Given the description of an element on the screen output the (x, y) to click on. 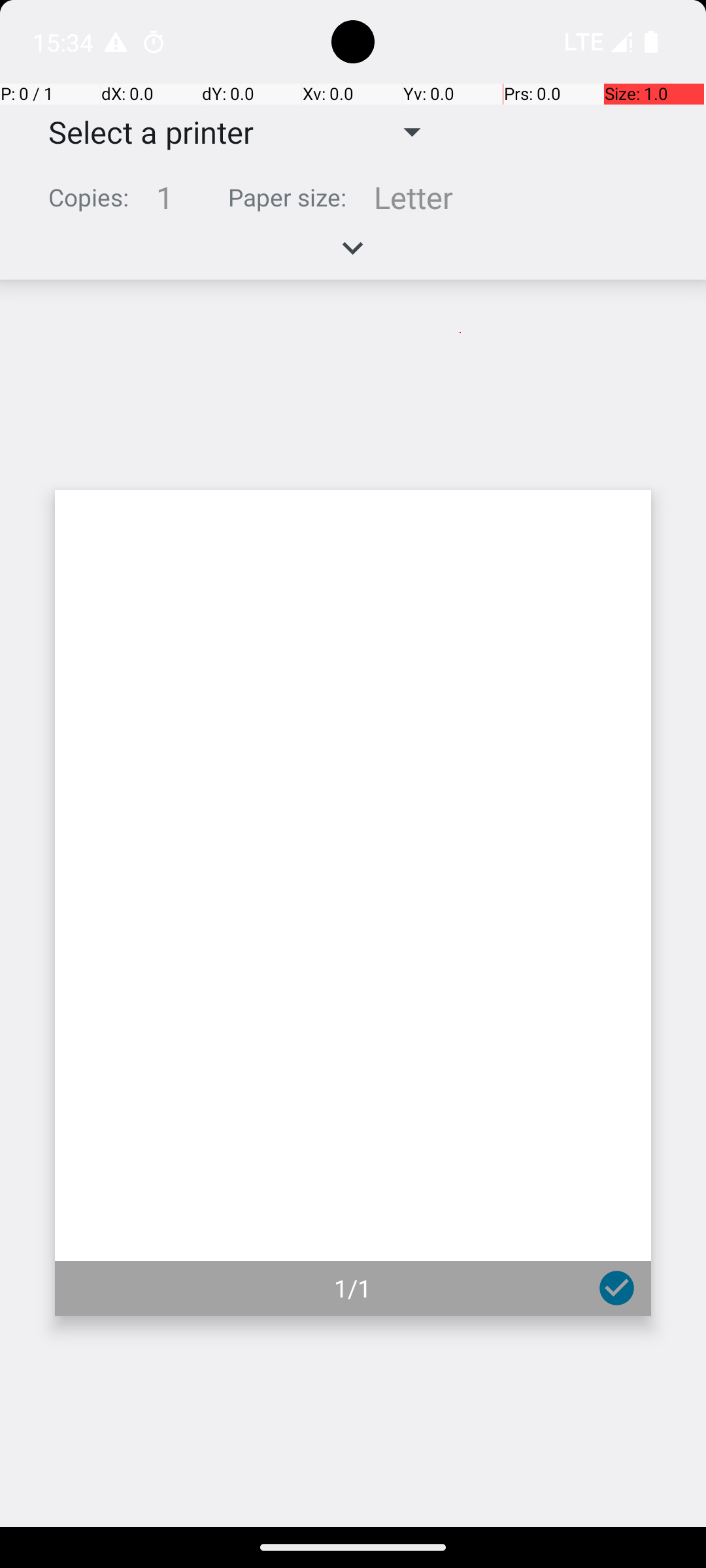
Expand handle Element type: android.widget.FrameLayout (353, 255)
Summary, copies 1, paper size Letter Element type: android.widget.LinearLayout (353, 202)
Select a printer Element type: android.widget.TextView (140, 131)
Copies: Element type: android.widget.TextView (88, 196)
Paper size: Element type: android.widget.TextView (287, 196)
Letter Element type: android.widget.TextView (413, 196)
Page 1 of 1 Element type: android.widget.CompoundButton (352, 902)
1/1 Element type: android.widget.TextView (352, 1287)
